Given the description of an element on the screen output the (x, y) to click on. 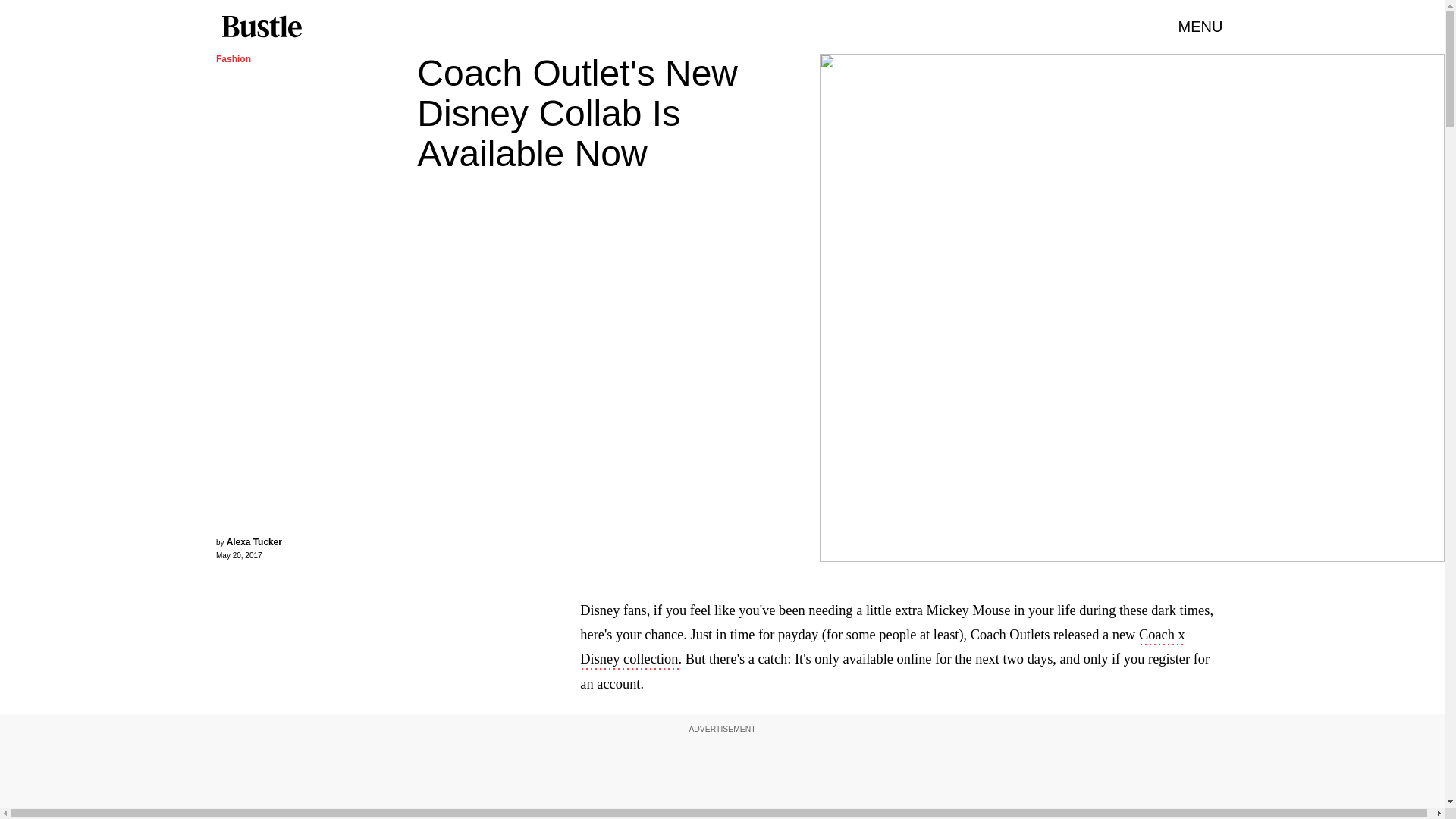
Bustle (261, 26)
Coach x Disney collection (882, 648)
